Given the description of an element on the screen output the (x, y) to click on. 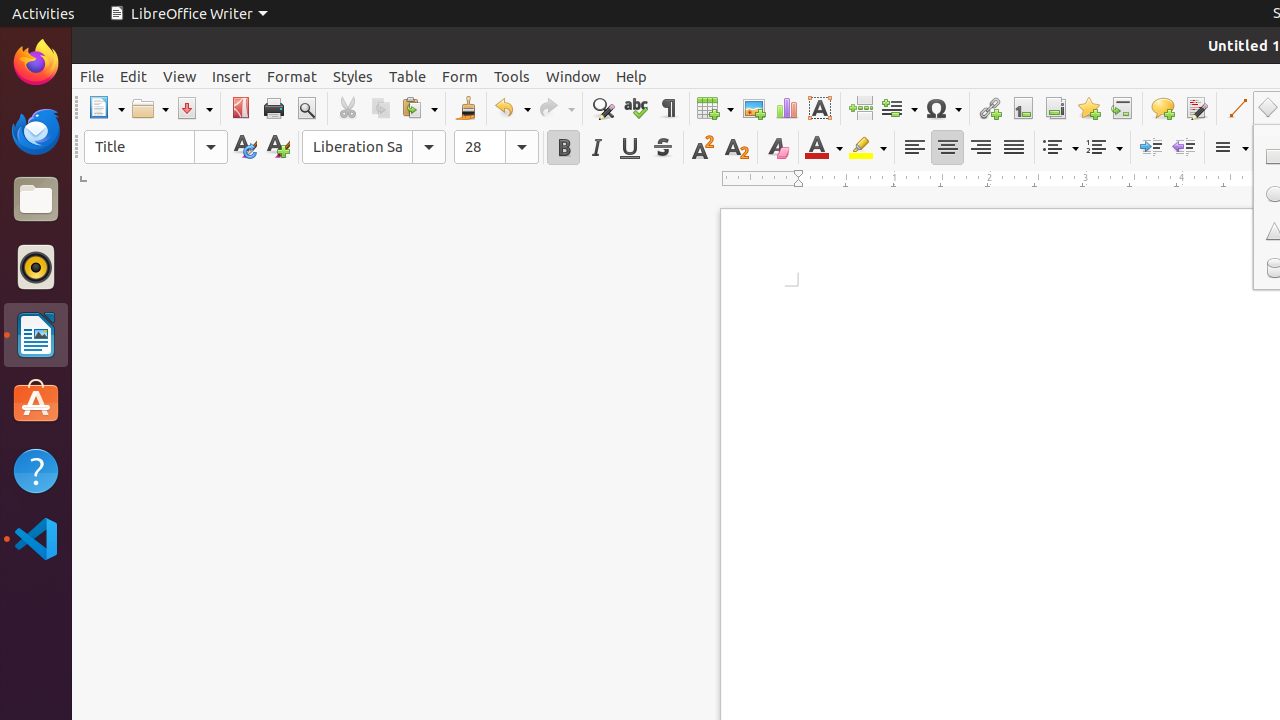
Find & Replace Element type: toggle-button (602, 108)
Font Name Element type: combo-box (374, 147)
Footnote Element type: push-button (1022, 108)
Print Preview Element type: toggle-button (306, 108)
Cross-reference Element type: push-button (1121, 108)
